Given the description of an element on the screen output the (x, y) to click on. 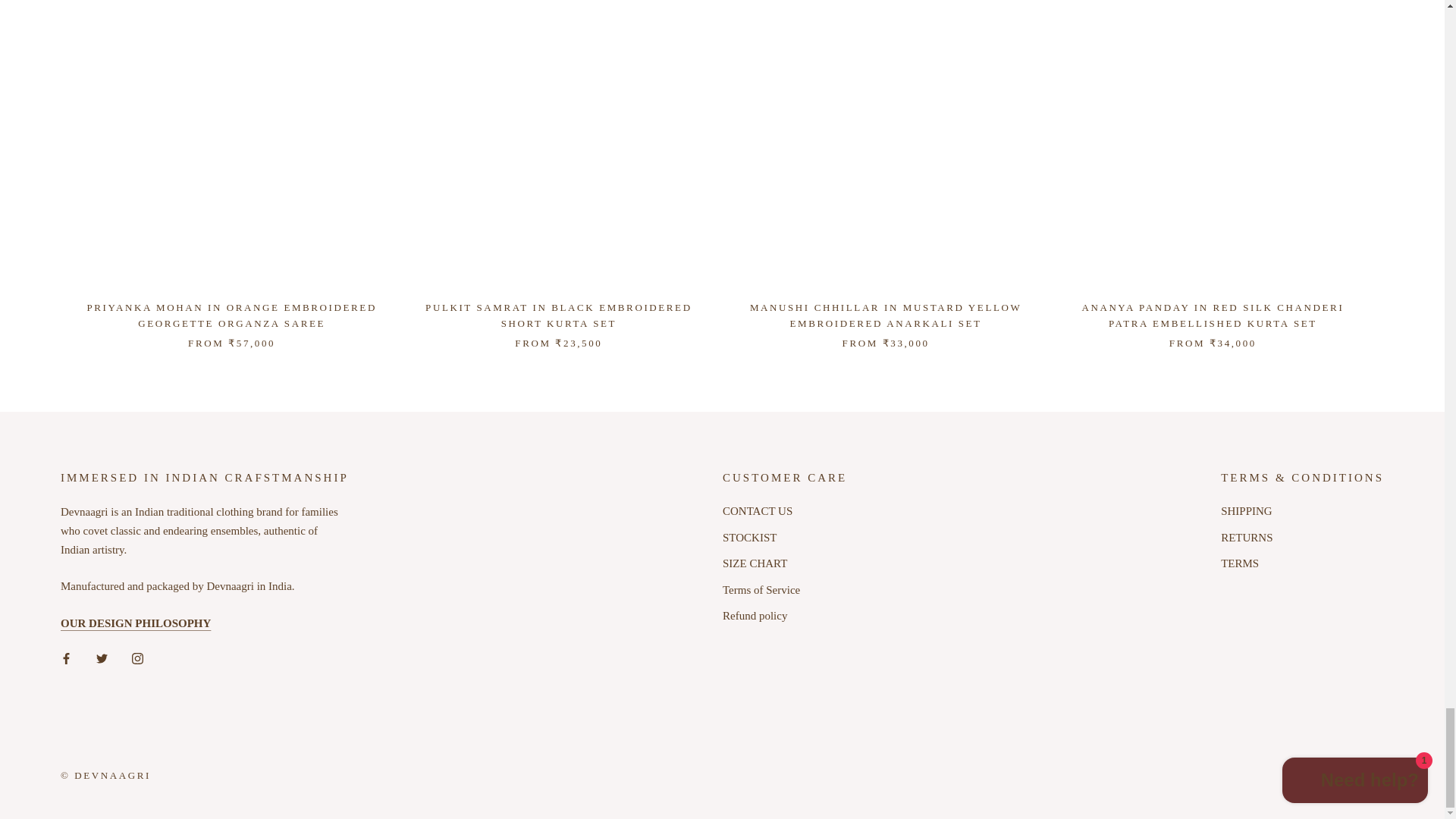
OUR DESIGN PHILOSOPHY (136, 623)
